Given the description of an element on the screen output the (x, y) to click on. 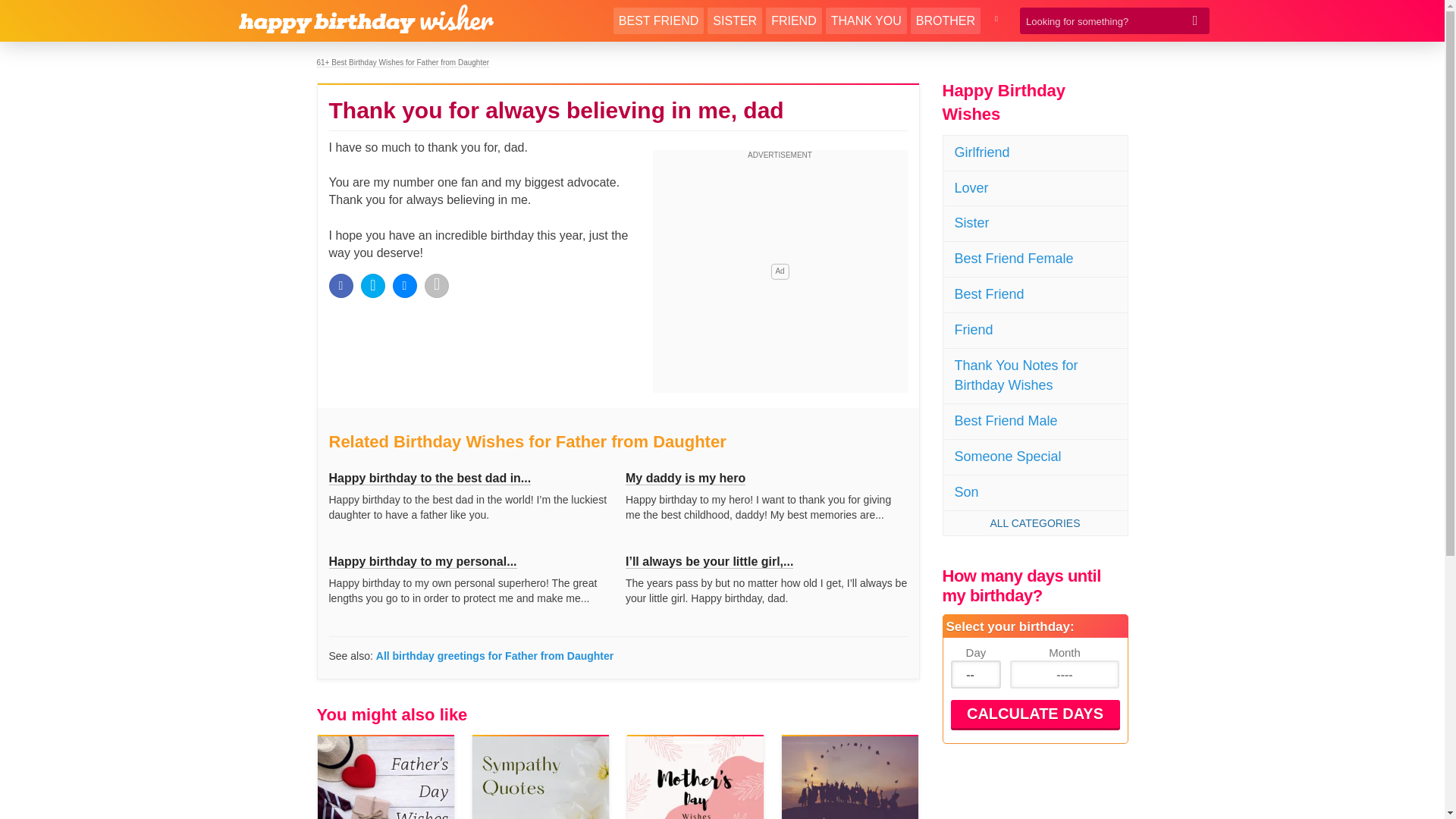
Girlfriend (1034, 152)
SISTER (734, 20)
BROTHER (945, 20)
Email (436, 285)
Happy birthday to the best dad in... (430, 478)
Happy birthday to my personal... (422, 561)
Calculate Days (1034, 714)
THANK YOU (866, 20)
Tweet (373, 285)
My daddy is my hero (685, 478)
